Given the description of an element on the screen output the (x, y) to click on. 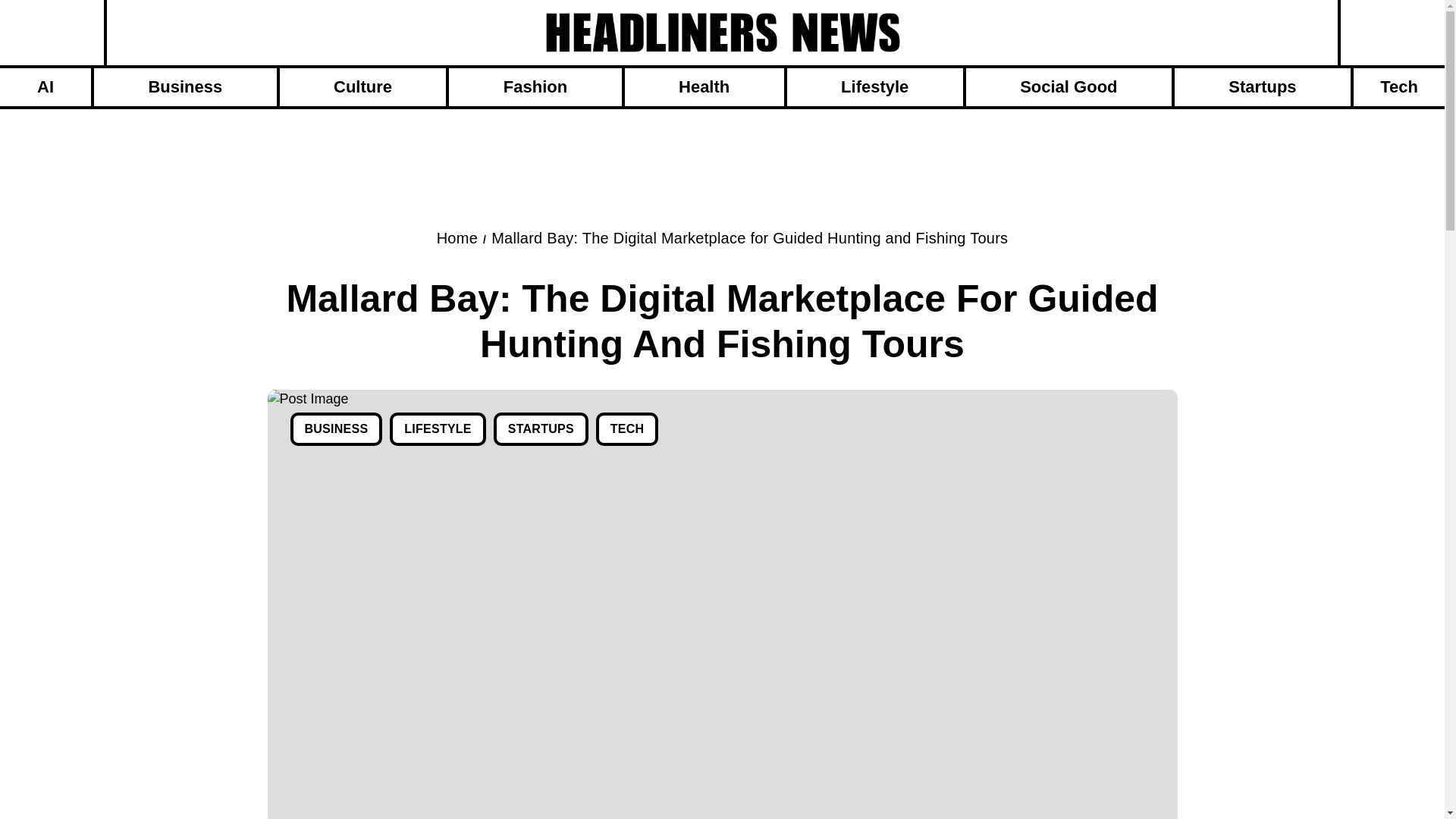
Fashion (534, 86)
BUSINESS (335, 428)
Business (185, 86)
AI (45, 86)
Home (456, 238)
Culture (362, 86)
TECH (627, 428)
Health (704, 86)
Social Good (1069, 86)
